Given the description of an element on the screen output the (x, y) to click on. 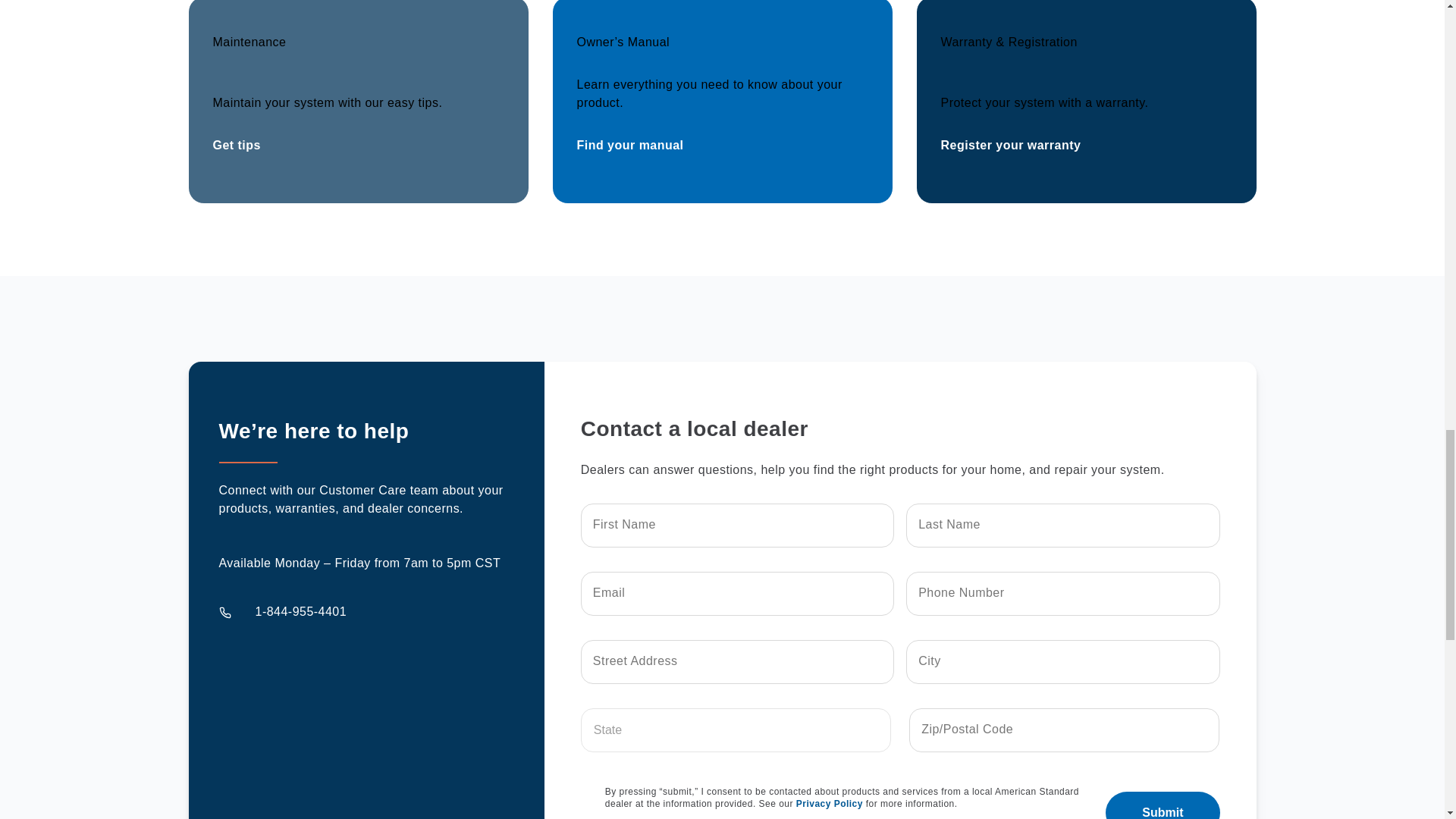
Submit (1162, 805)
Register your warranty (1010, 144)
1-844-955-4401 (300, 611)
Get tips (236, 144)
Privacy Policy (829, 803)
Find your manual (629, 144)
